Given the description of an element on the screen output the (x, y) to click on. 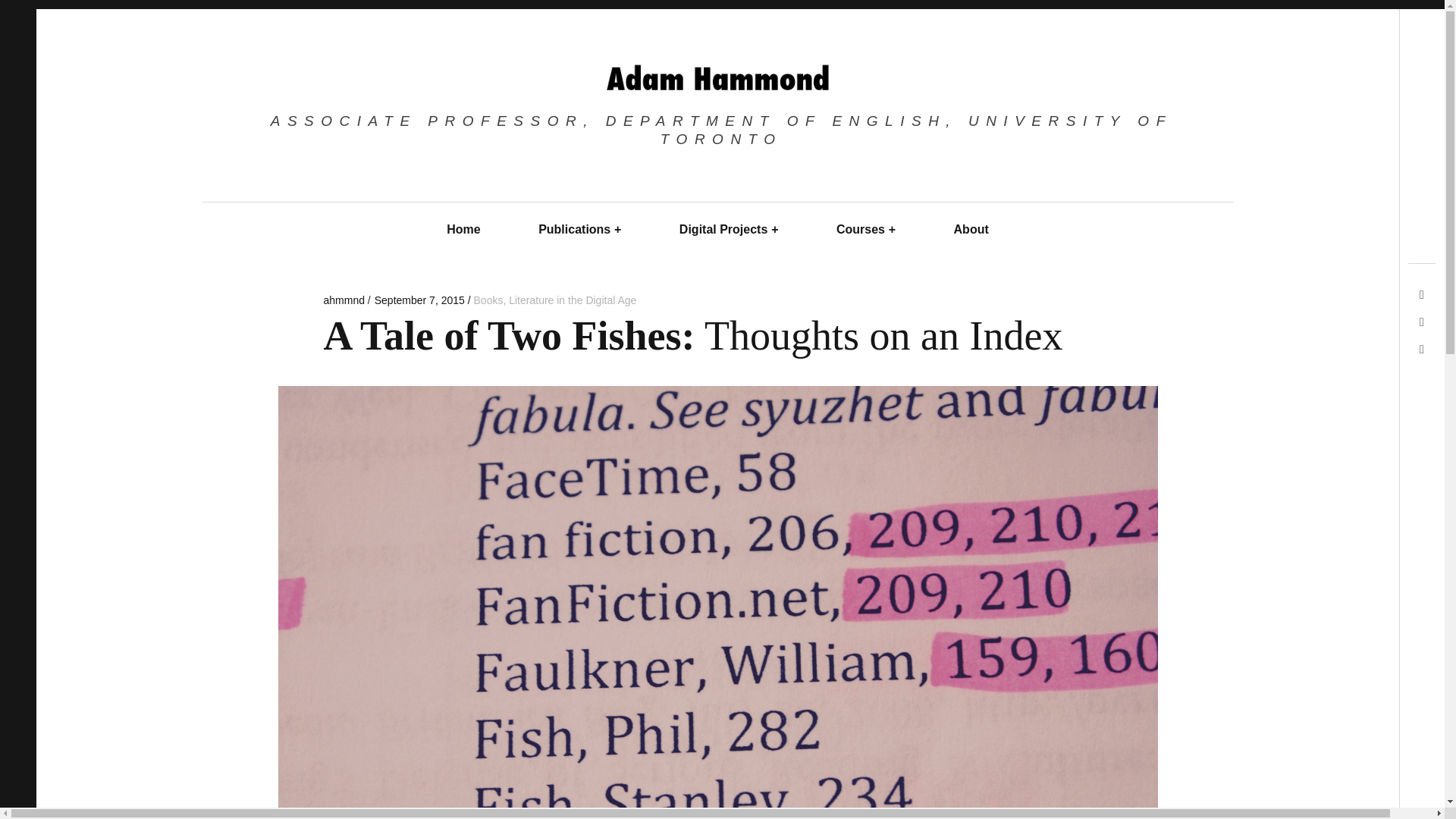
Books (488, 300)
About (971, 229)
September 7, 2015 (419, 300)
Literature in the Digital Age (572, 300)
Search (1375, 38)
Search (21, 16)
ahmmnd (344, 300)
Home (462, 229)
